Given the description of an element on the screen output the (x, y) to click on. 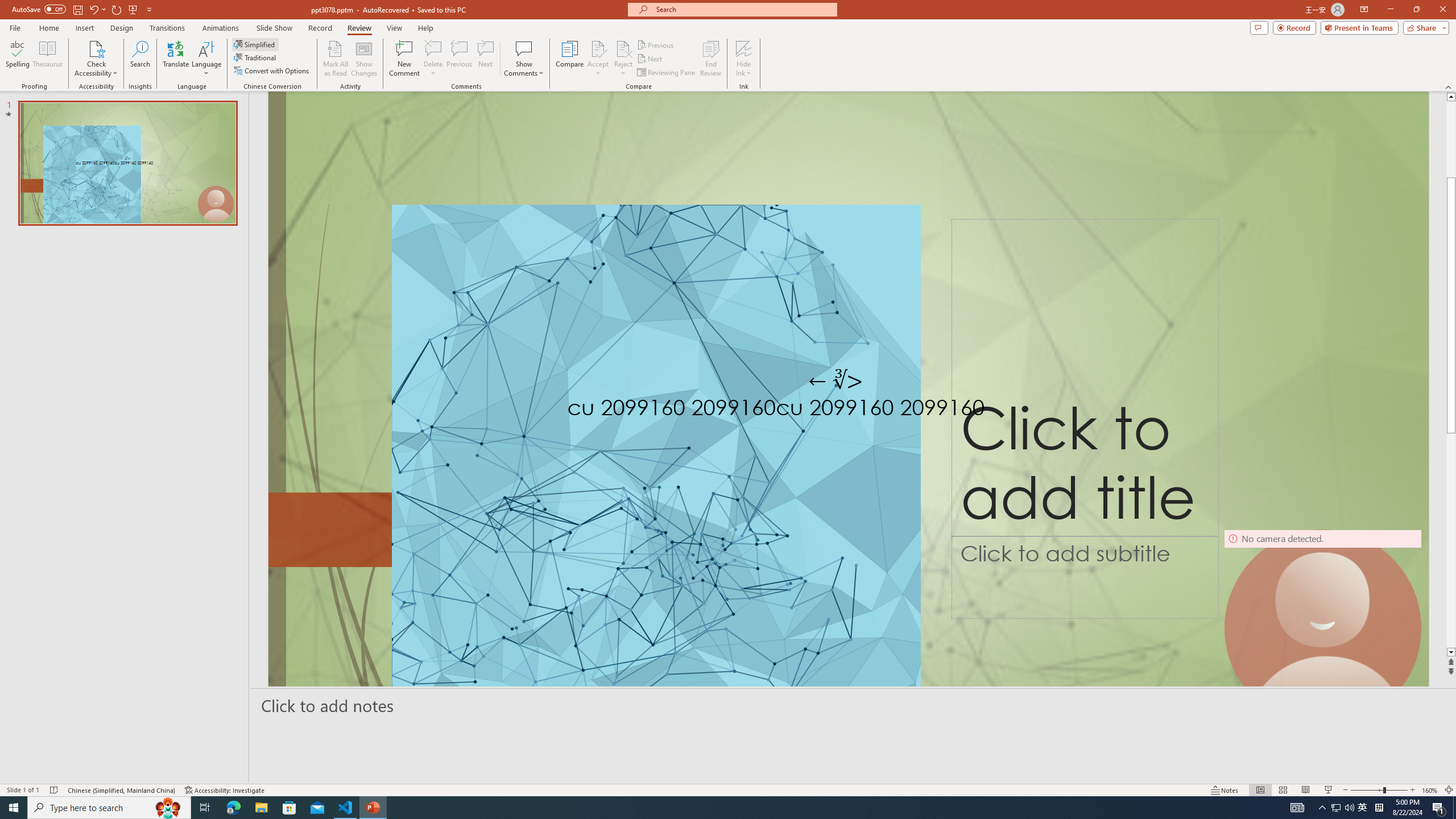
Reject (622, 58)
TextBox 61 (845, 410)
Subtitle TextBox (1085, 577)
Reject Change (622, 48)
Show Changes (363, 58)
